Given the description of an element on the screen output the (x, y) to click on. 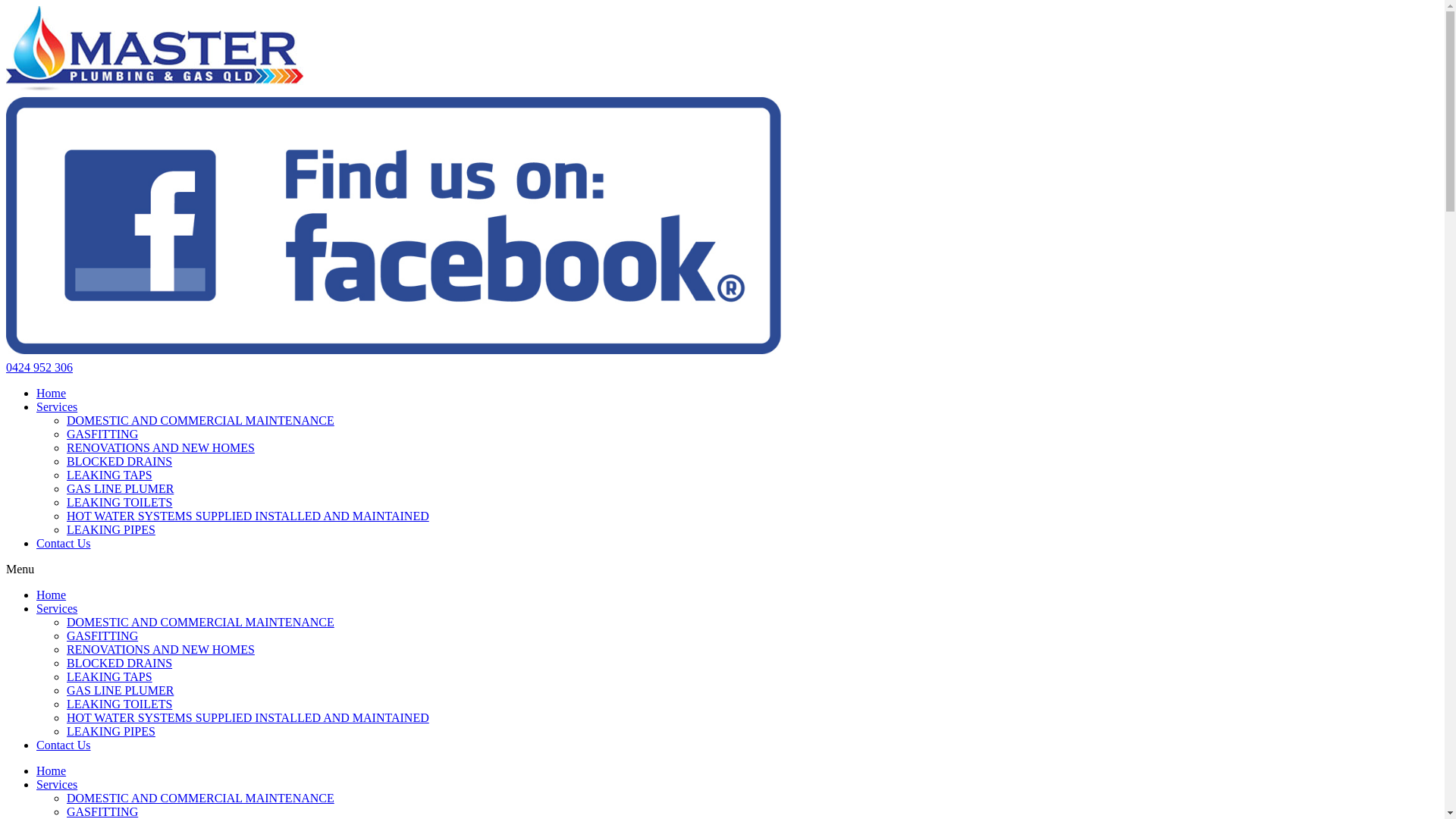
LEAKING TAPS Element type: text (109, 474)
LEAKING PIPES Element type: text (110, 529)
LEAKING TAPS Element type: text (109, 676)
BLOCKED DRAINS Element type: text (119, 461)
GASFITTING Element type: text (102, 433)
HOT WATER SYSTEMS SUPPLIED INSTALLED AND MAINTAINED Element type: text (247, 717)
Services Element type: text (56, 608)
DOMESTIC AND COMMERCIAL MAINTENANCE Element type: text (200, 797)
RENOVATIONS AND NEW HOMES Element type: text (160, 447)
LEAKING PIPES Element type: text (110, 730)
BLOCKED DRAINS Element type: text (119, 662)
Services Element type: text (56, 406)
LEAKING TOILETS Element type: text (119, 703)
GASFITTING Element type: text (102, 811)
Skip to content Element type: text (5, 5)
Home Element type: text (50, 770)
GAS LINE PLUMER Element type: text (119, 488)
Home Element type: text (50, 392)
HOT WATER SYSTEMS SUPPLIED INSTALLED AND MAINTAINED Element type: text (247, 515)
Contact Us Element type: text (63, 744)
LEAKING TOILETS Element type: text (119, 501)
GASFITTING Element type: text (102, 635)
Contact Us Element type: text (63, 542)
0424 952 306 Element type: text (39, 366)
RENOVATIONS AND NEW HOMES Element type: text (160, 649)
GAS LINE PLUMER Element type: text (119, 690)
Home Element type: text (50, 594)
DOMESTIC AND COMMERCIAL MAINTENANCE Element type: text (200, 420)
DOMESTIC AND COMMERCIAL MAINTENANCE Element type: text (200, 621)
Services Element type: text (56, 784)
